Given the description of an element on the screen output the (x, y) to click on. 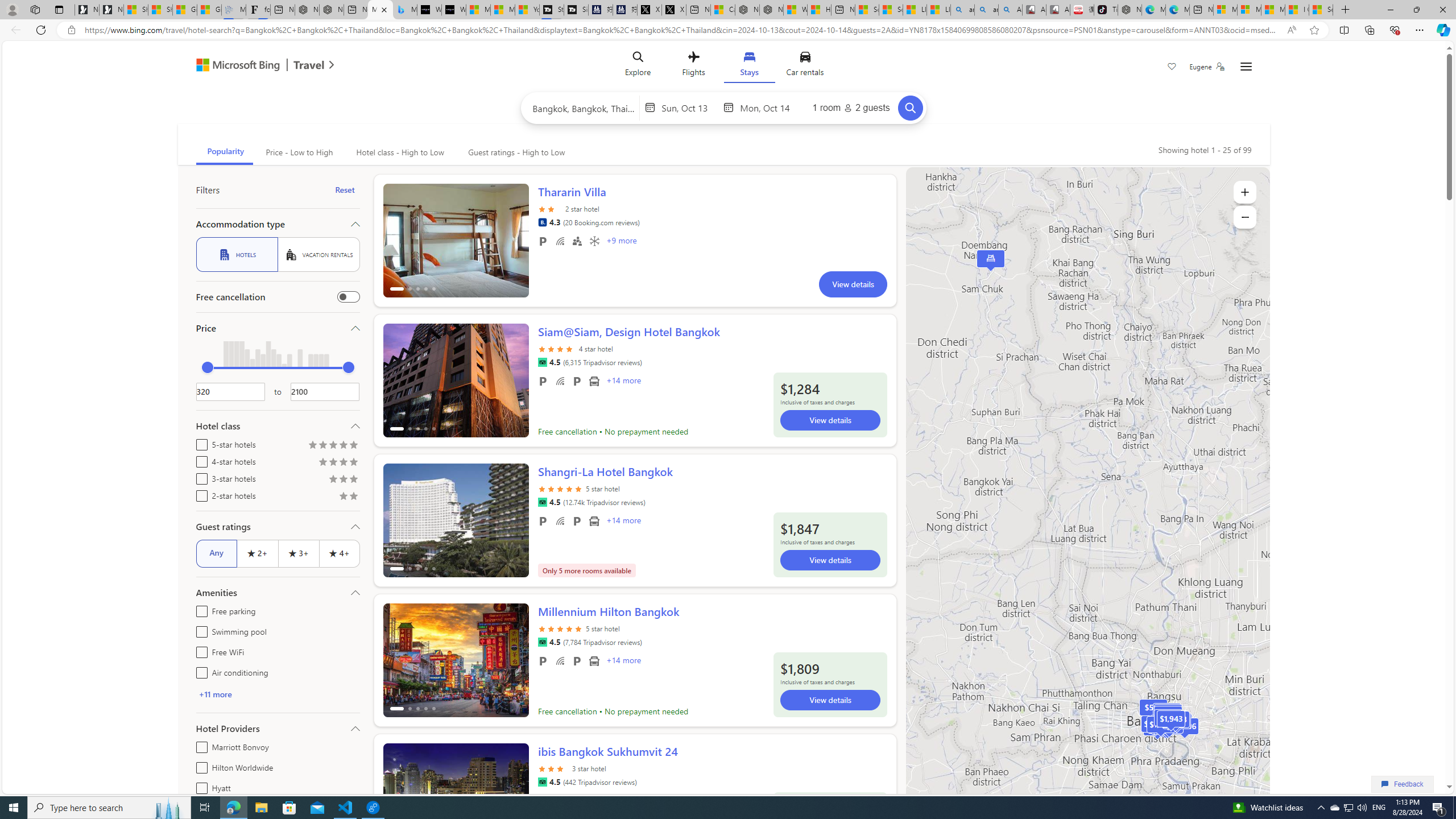
Rating (353, 496)
Tripadvisor (542, 781)
Save (1171, 67)
Eugene (1206, 66)
star rating (553, 768)
+11 more (277, 694)
Car rentals (804, 65)
ScrollLeft (396, 795)
Newsletter Sign Up (111, 9)
Hotel class - High to Low (398, 152)
Start Date (689, 107)
Microsoft Bing Travel - Shangri-La Hotel Bangkok (404, 9)
